Given the description of an element on the screen output the (x, y) to click on. 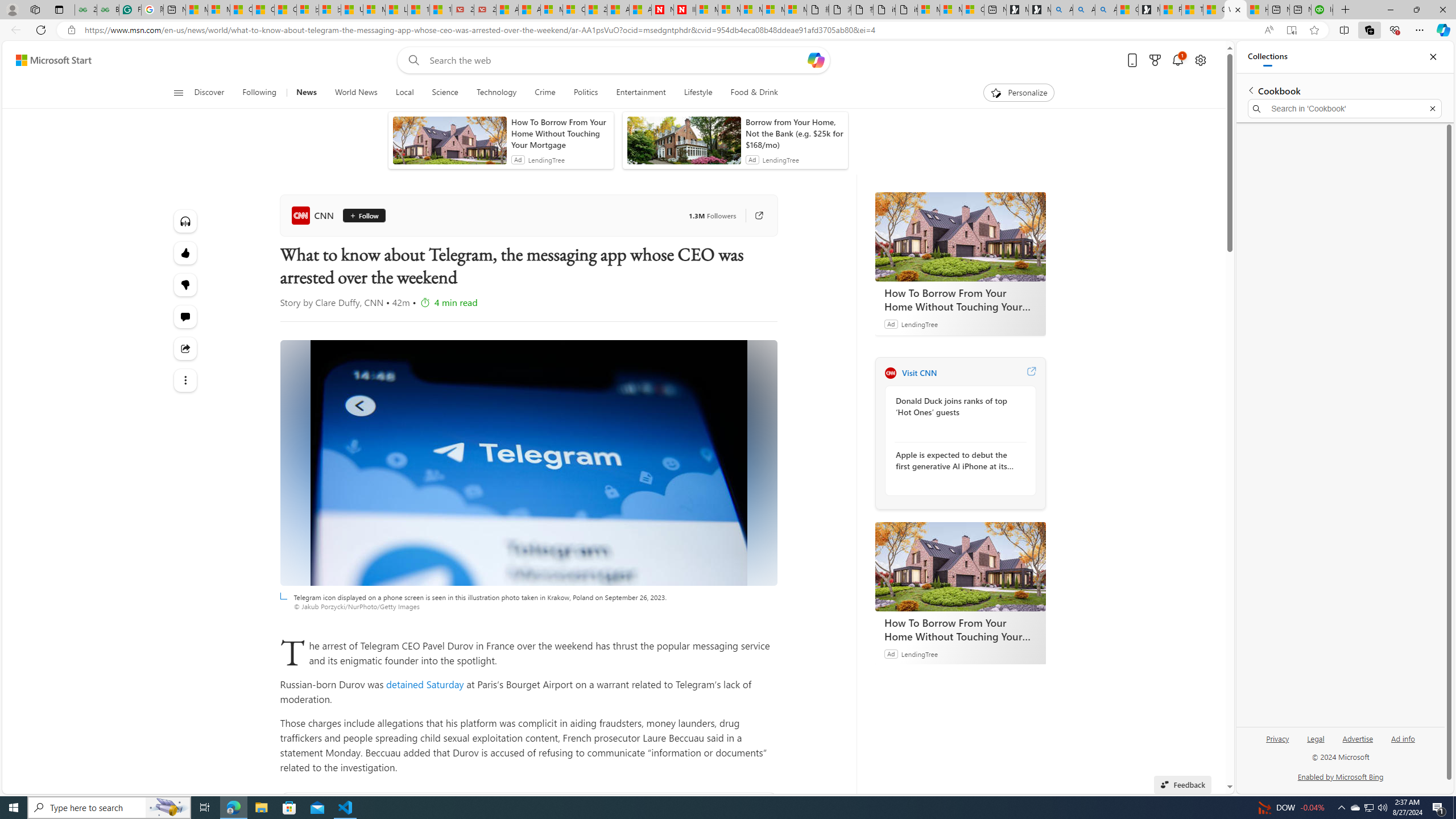
Visit CNN website (1031, 372)
Search in 'Cookbook' (1345, 108)
detained Saturday (424, 684)
Back to list of collections (1250, 90)
